Given the description of an element on the screen output the (x, y) to click on. 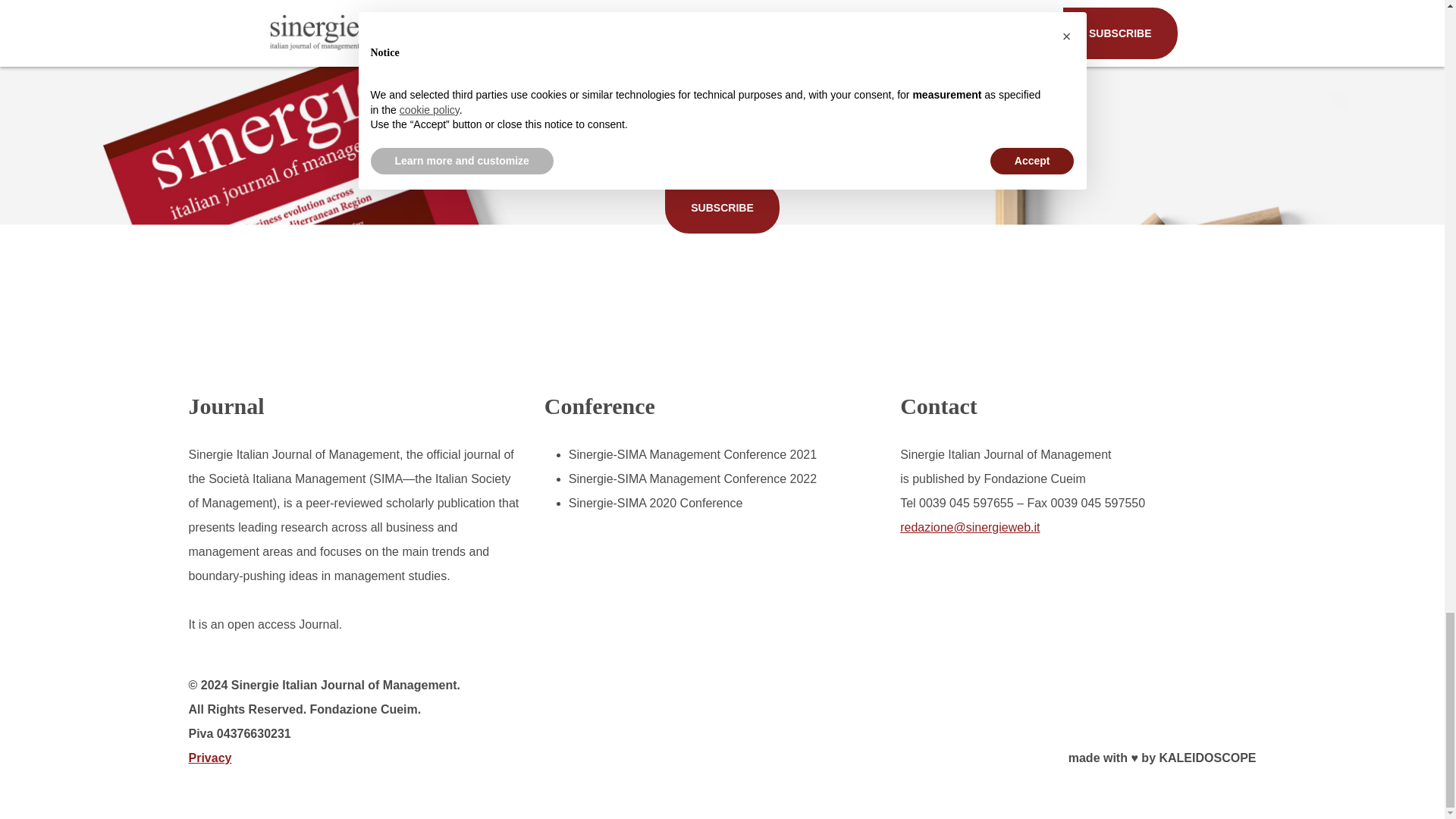
SUBSCRIBE (721, 207)
Sinergie-SIMA Management Conference 2021 (692, 454)
Sinergie-SIMA Management Conference 2022 (692, 478)
